Given the description of an element on the screen output the (x, y) to click on. 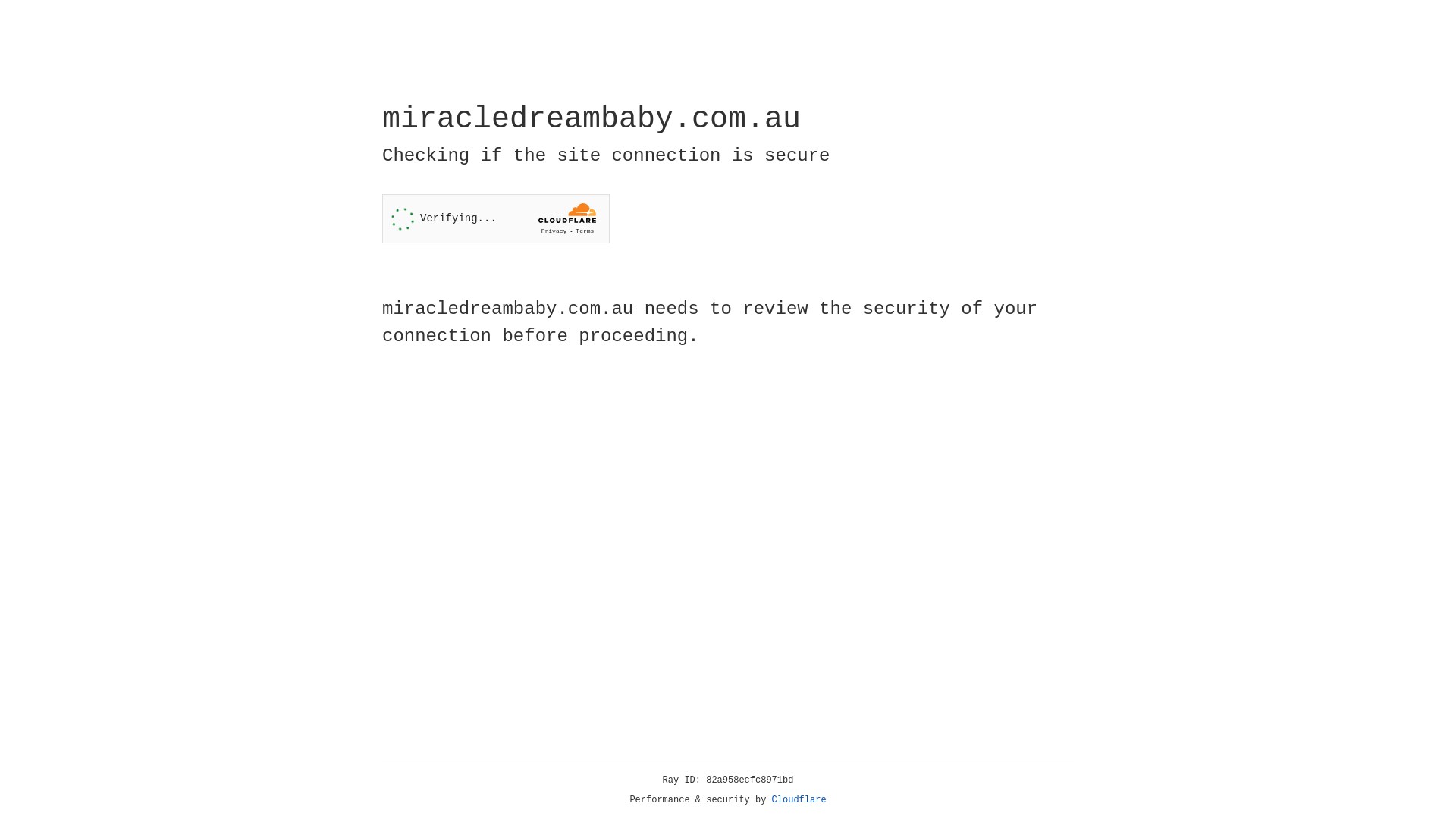
Widget containing a Cloudflare security challenge Element type: hover (495, 218)
Cloudflare Element type: text (798, 799)
